Given the description of an element on the screen output the (x, y) to click on. 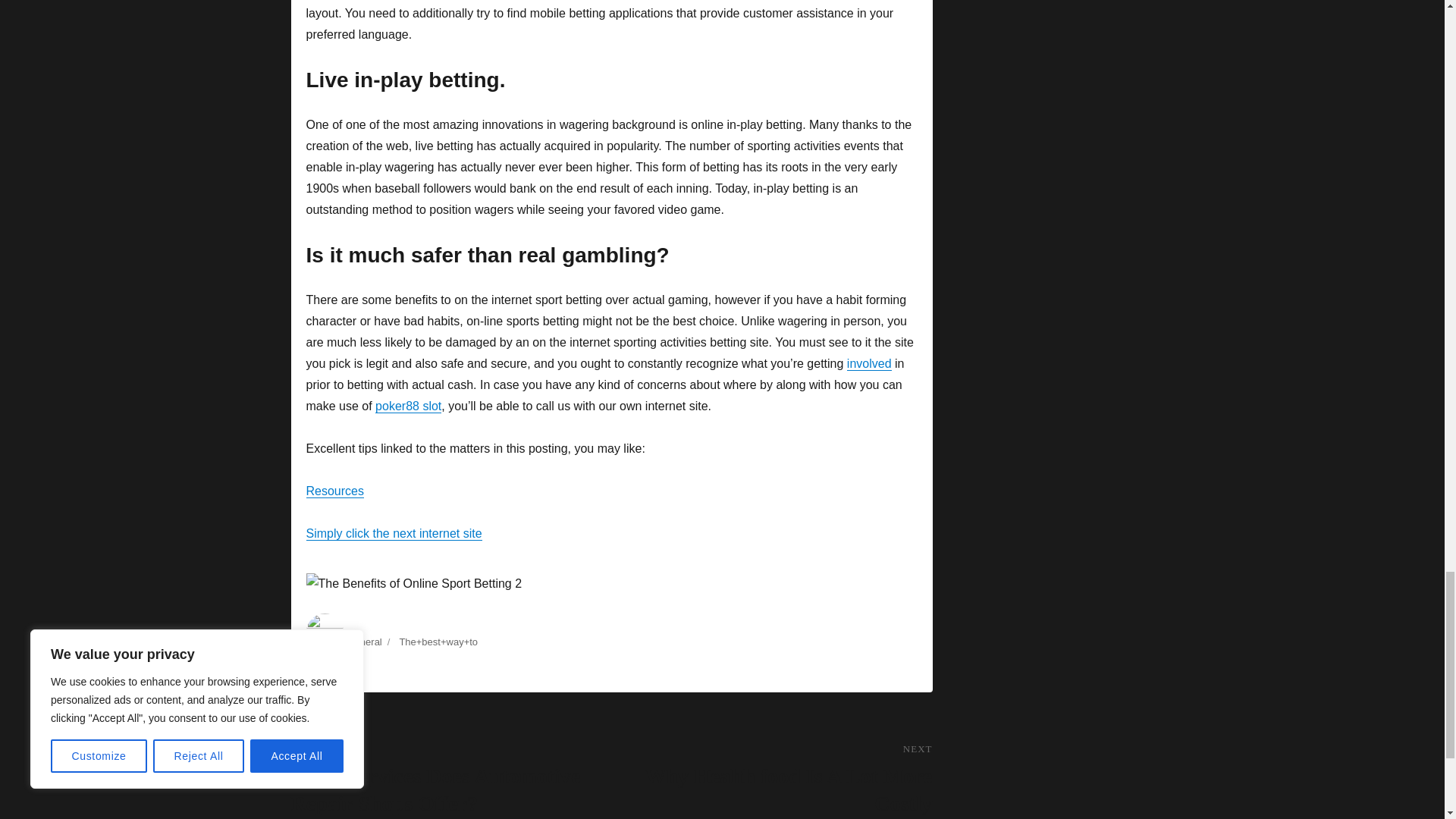
General (364, 641)
Resources (334, 490)
involved (869, 363)
Simply click the next internet site (393, 533)
poker88 slot (408, 405)
